Given the description of an element on the screen output the (x, y) to click on. 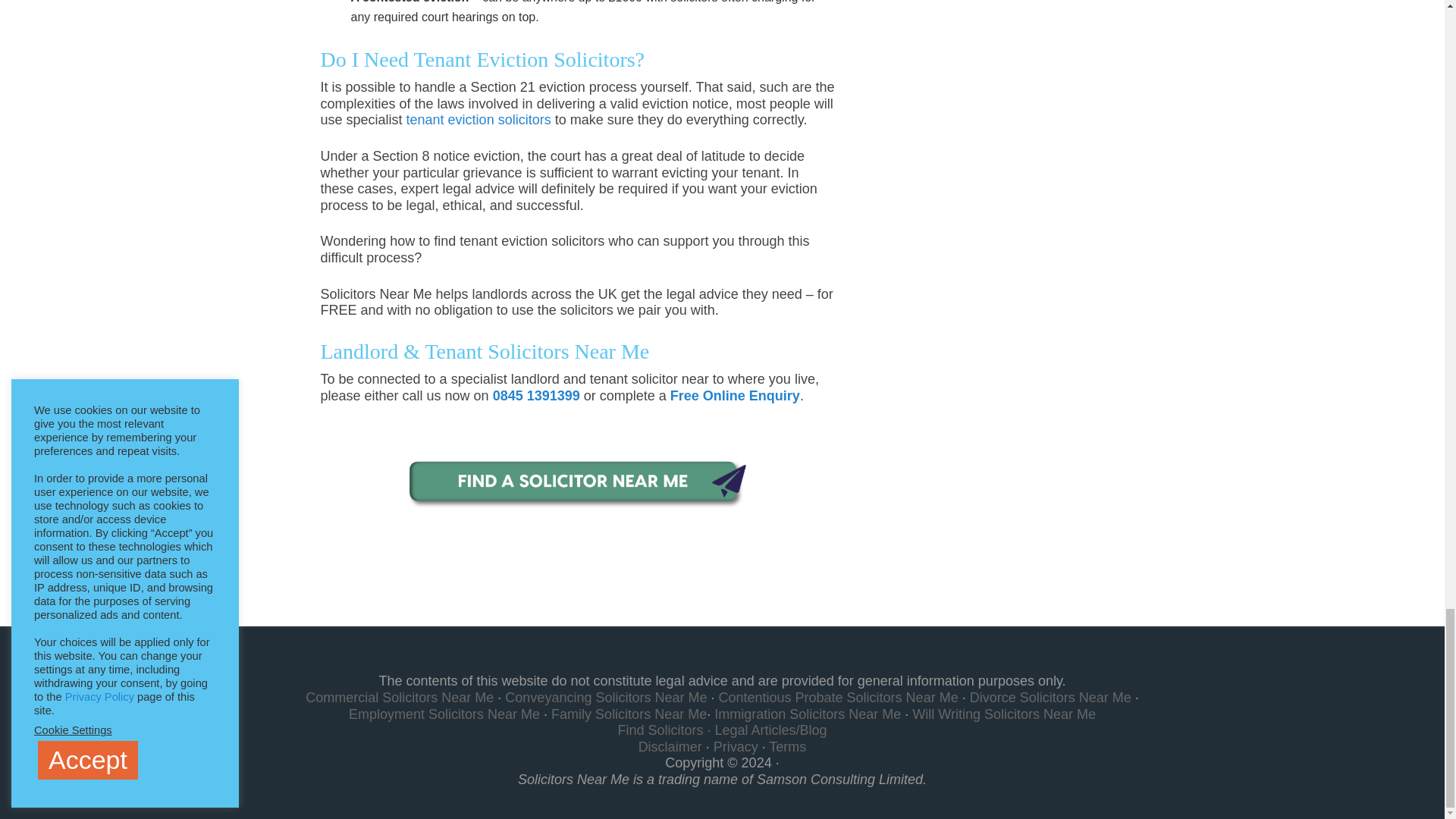
Tenant Eviction Specialists (578, 483)
